Given the description of an element on the screen output the (x, y) to click on. 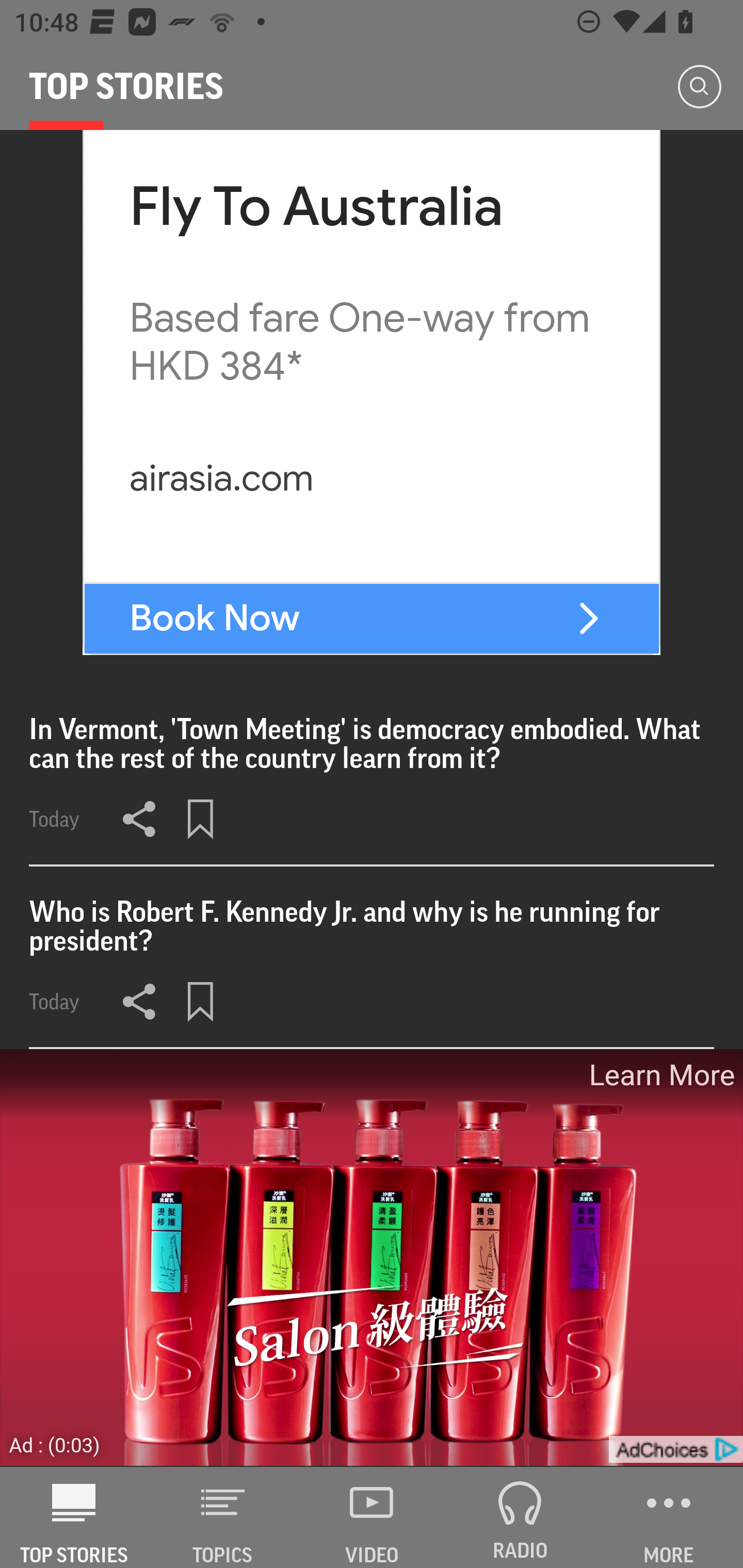
Fly To Australia (317, 206)
airasia.com (221, 477)
%3Ffrom%3DHKG (588, 618)
Book Now (214, 618)
Learn More Ad : (0:03) get?name=admarker-full-tl (371, 1257)
Learn More (660, 1074)
Ad : (0:03) (54, 1444)
get?name=admarker-full-tl (675, 1449)
AP News TOP STORIES (74, 1517)
TOPICS (222, 1517)
VIDEO (371, 1517)
RADIO (519, 1517)
MORE (668, 1517)
